Given the description of an element on the screen output the (x, y) to click on. 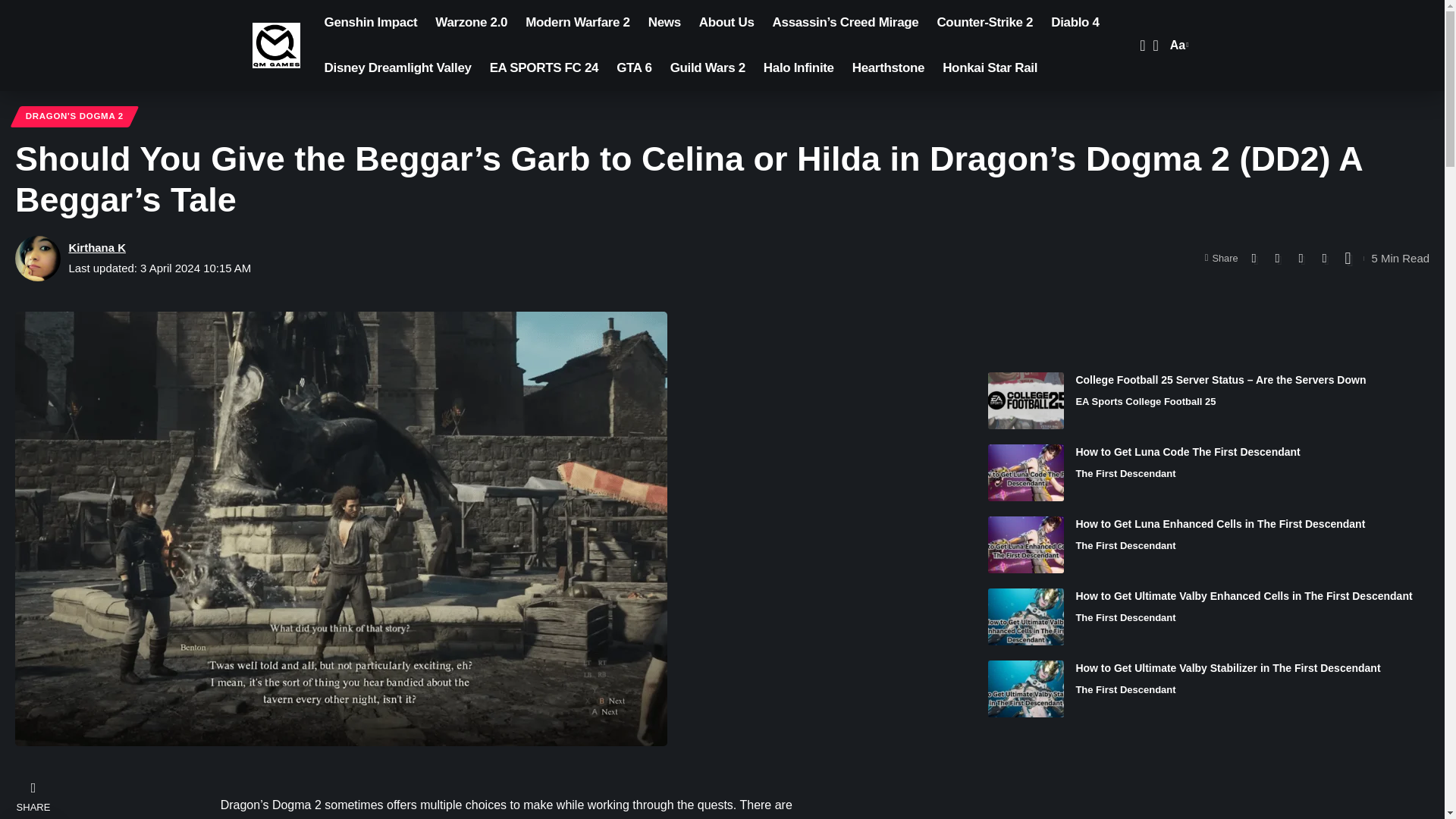
How to Get Luna Enhanced Cells in The First Descendant (1026, 544)
DRAGON'S DOGMA 2 (73, 116)
Genshin Impact (370, 22)
GTA 6 (634, 67)
Diablo 4 (1075, 22)
About Us (1177, 45)
Counter-Strike 2 (726, 22)
Hearthstone (984, 22)
News (888, 67)
QM Games (664, 22)
Guild Wars 2 (275, 44)
Modern Warfare 2 (707, 67)
How to Get Ultimate Valby Stabilizer in The First Descendant (577, 22)
